Given the description of an element on the screen output the (x, y) to click on. 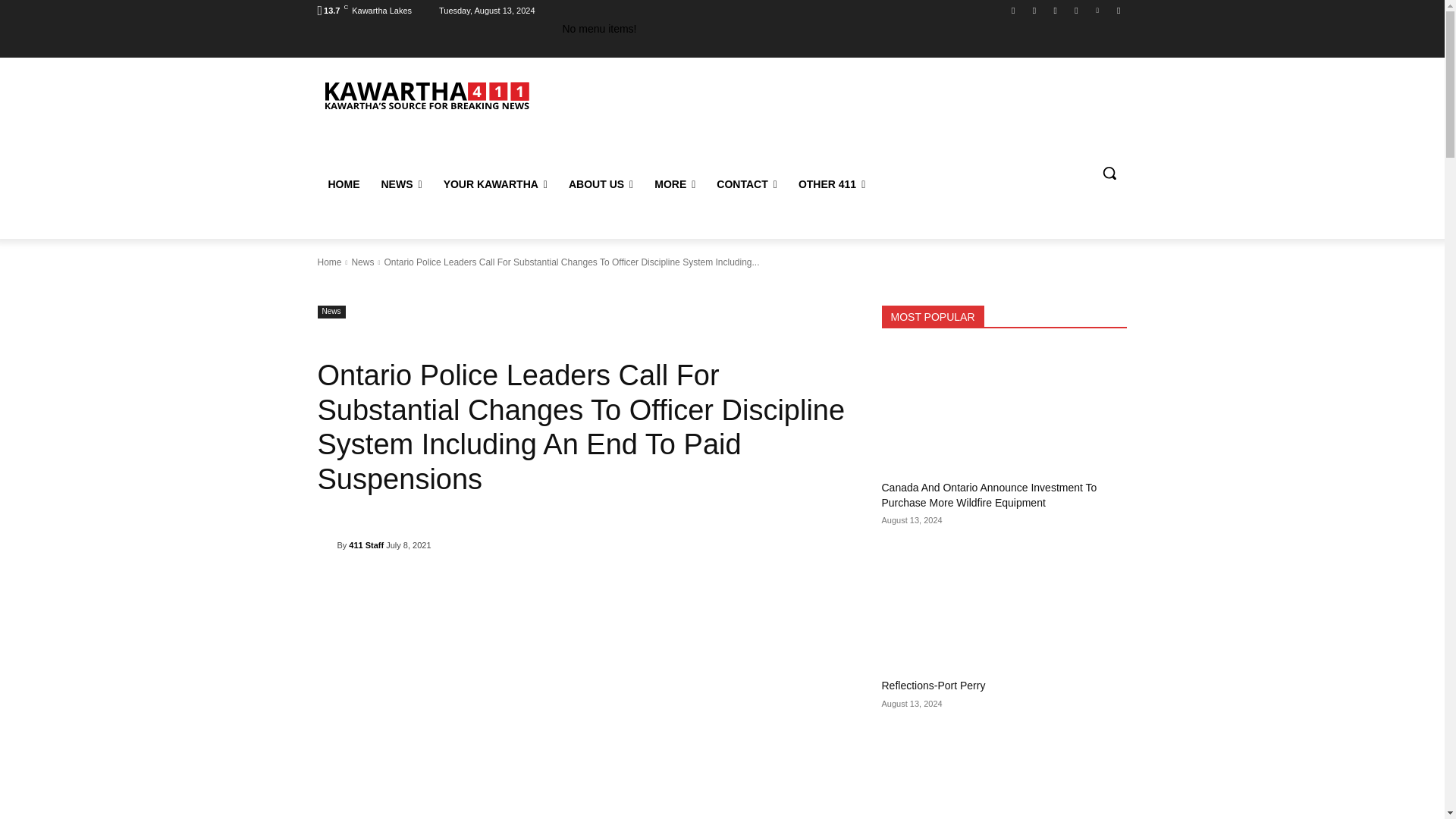
Kawartha 411 News (425, 94)
Youtube (1117, 9)
Facebook (1013, 9)
3rd party ad content (849, 113)
Telegram (1075, 9)
Instagram (1034, 9)
Paypal (1055, 9)
Twitter (1097, 9)
